Given the description of an element on the screen output the (x, y) to click on. 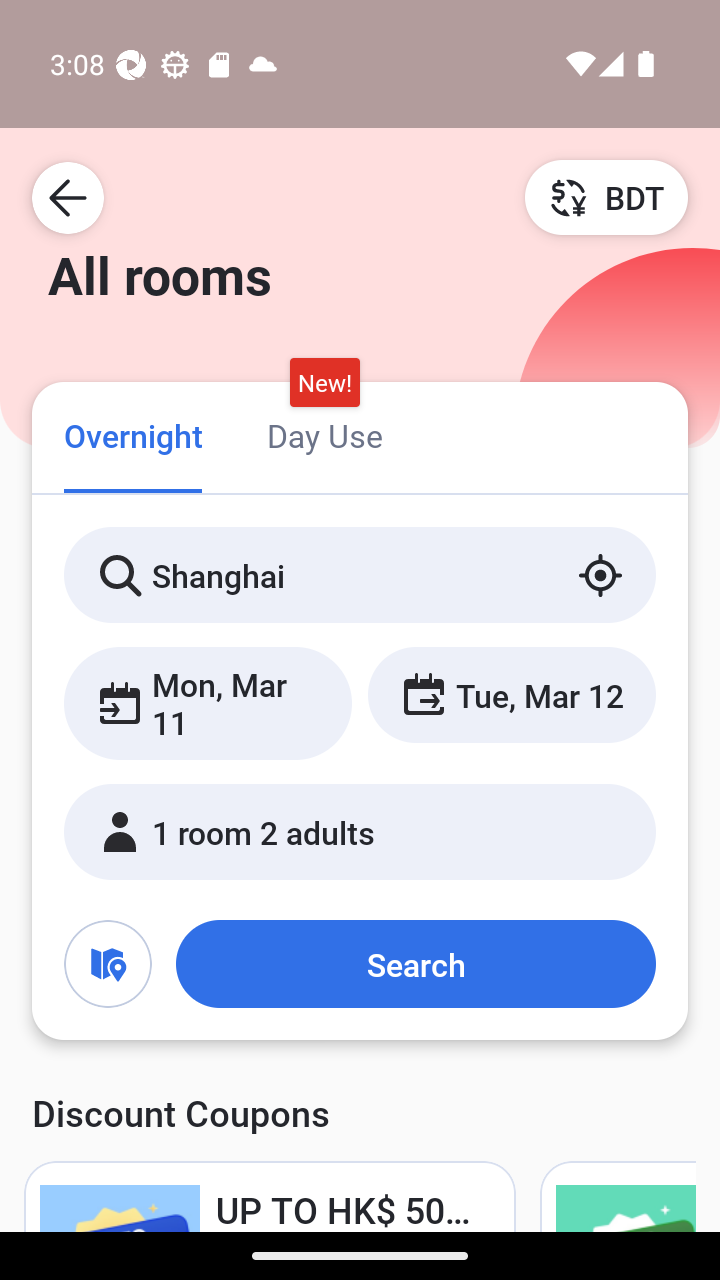
BDT (606, 197)
New! (324, 383)
Day Use (324, 434)
Shanghai (359, 575)
Mon, Mar 11 (208, 703)
Tue, Mar 12 (511, 694)
1 room 2 adults (359, 831)
Search (415, 964)
